Given the description of an element on the screen output the (x, y) to click on. 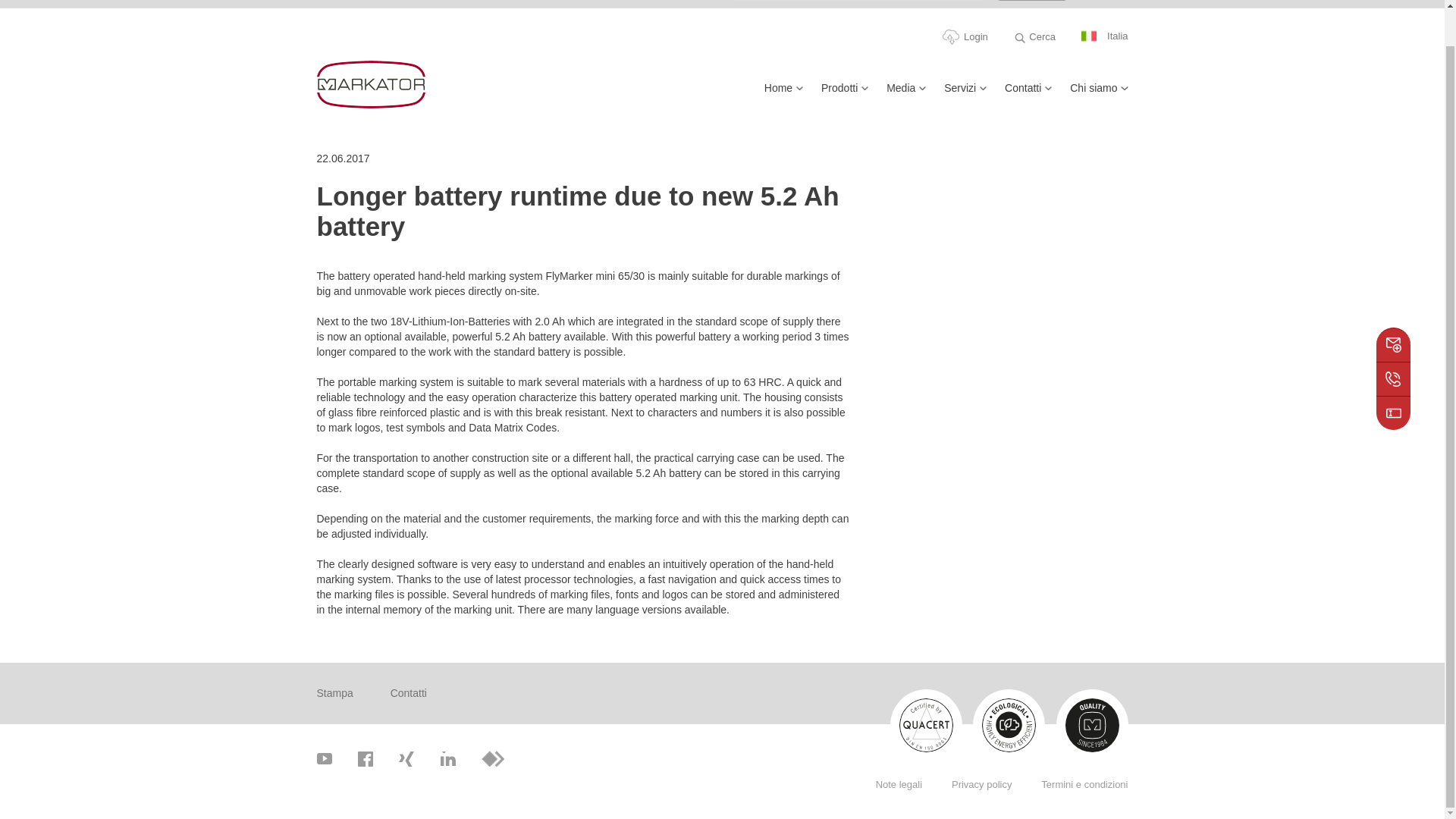
Home (783, 94)
Prodotti (844, 94)
Italia (1103, 36)
Media (906, 94)
Cerca (1034, 37)
Chi siamo (1098, 94)
Login (965, 36)
Contatti (1027, 94)
Avanti (1031, 0)
Servizi (965, 94)
